Given the description of an element on the screen output the (x, y) to click on. 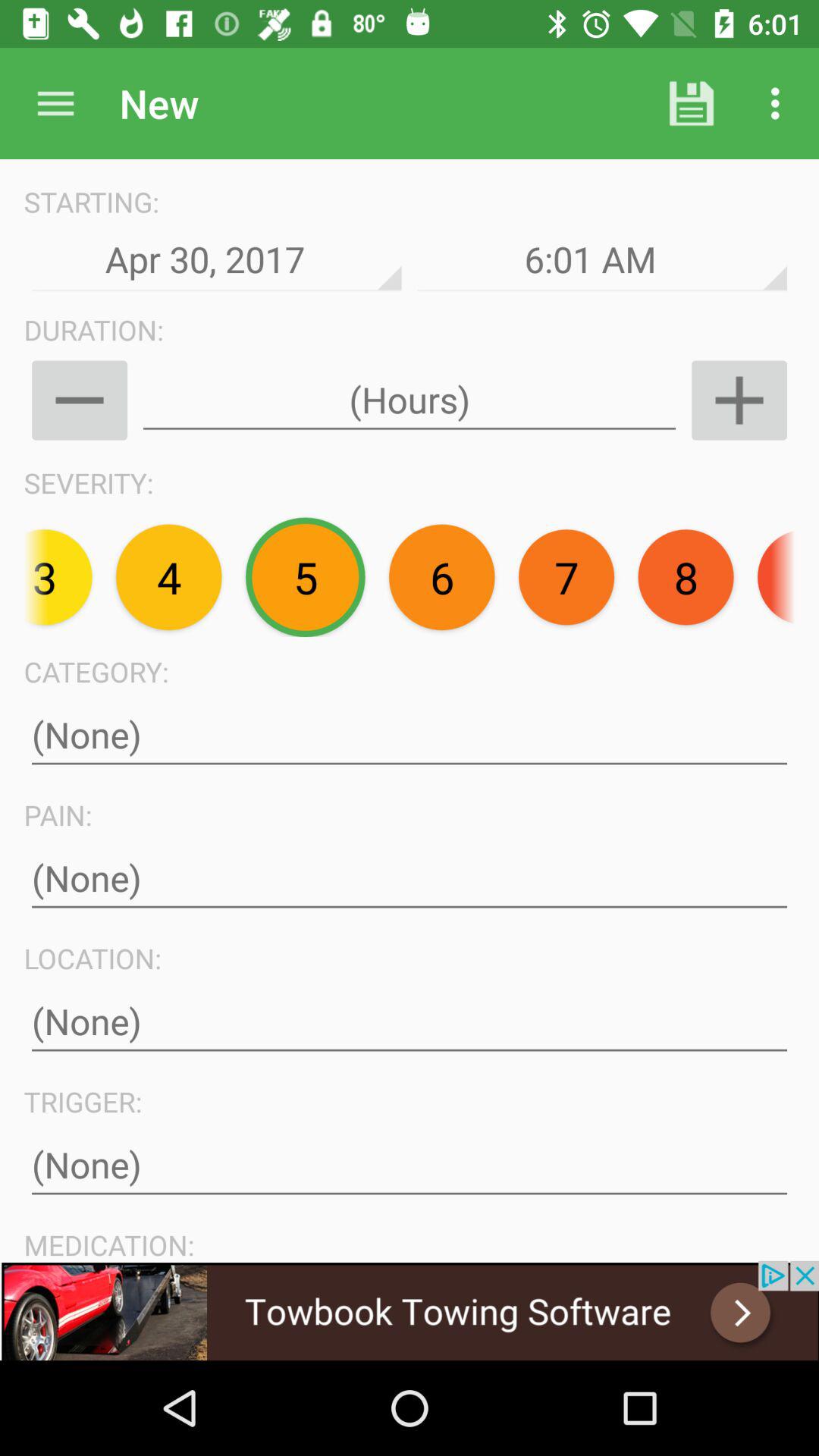
minus button (79, 400)
